Given the description of an element on the screen output the (x, y) to click on. 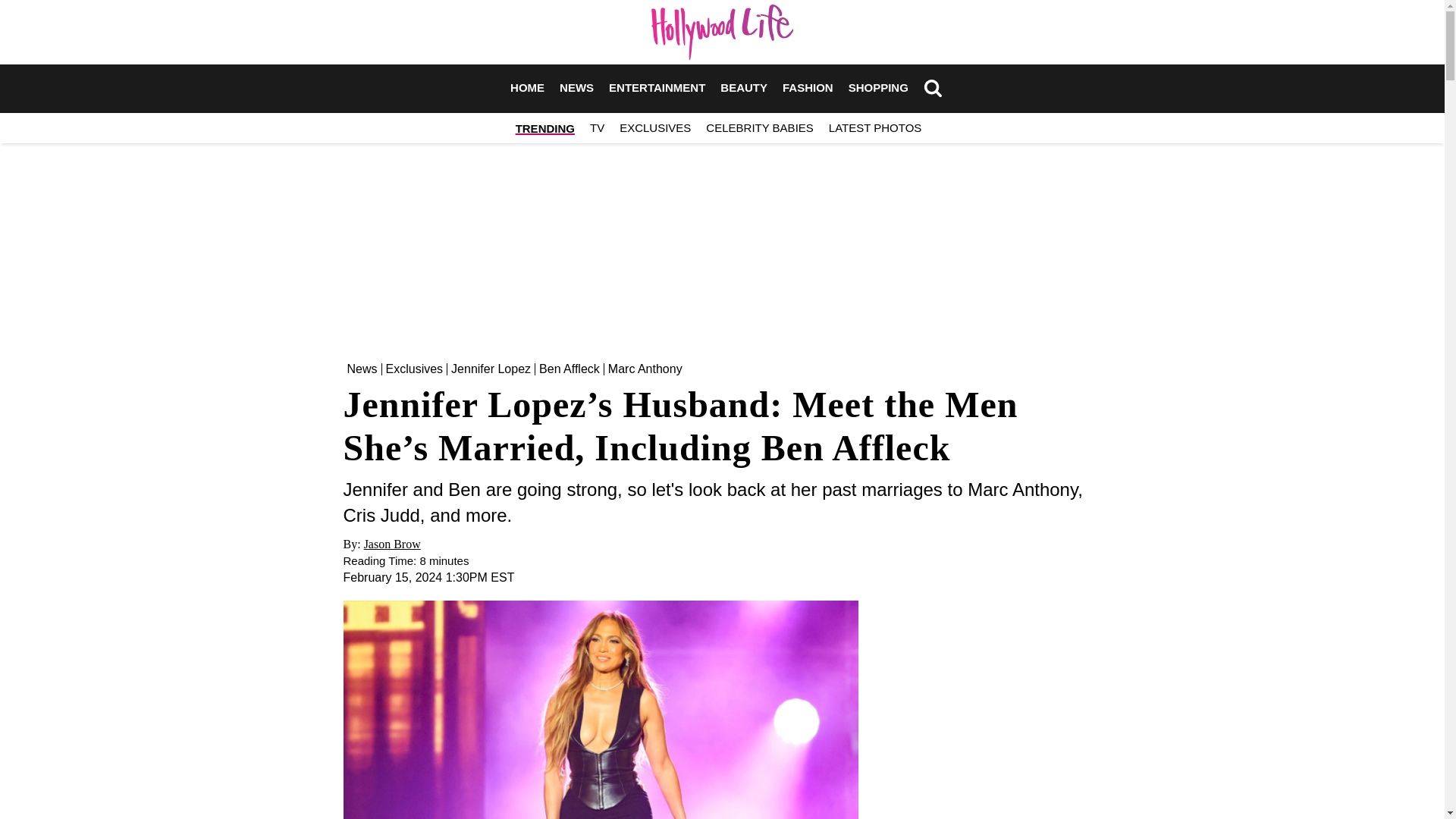
HOME (527, 88)
SHOPPING (878, 88)
NEWS (576, 88)
Posts by Jason Brow (392, 543)
ENTERTAINMENT (656, 88)
BEAUTY (743, 88)
Hollywood Life (722, 32)
FASHION (807, 88)
